Given the description of an element on the screen output the (x, y) to click on. 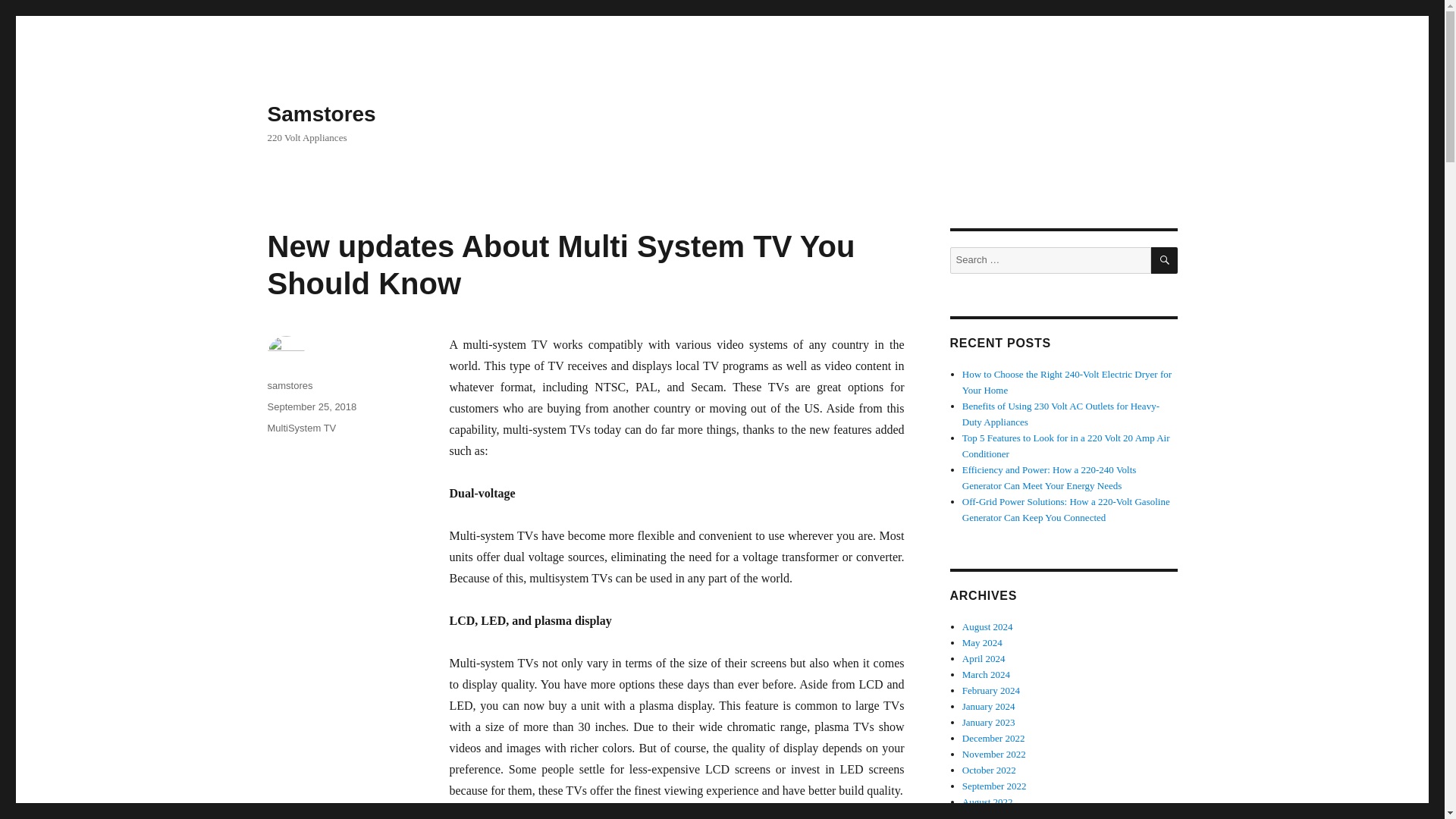
Samstores (320, 114)
May 2024 (982, 642)
February 2024 (991, 690)
MultiSystem TV (301, 428)
March 2024 (986, 674)
October 2022 (989, 769)
August 2022 (987, 801)
samstores (289, 385)
September 25, 2018 (311, 406)
